Given the description of an element on the screen output the (x, y) to click on. 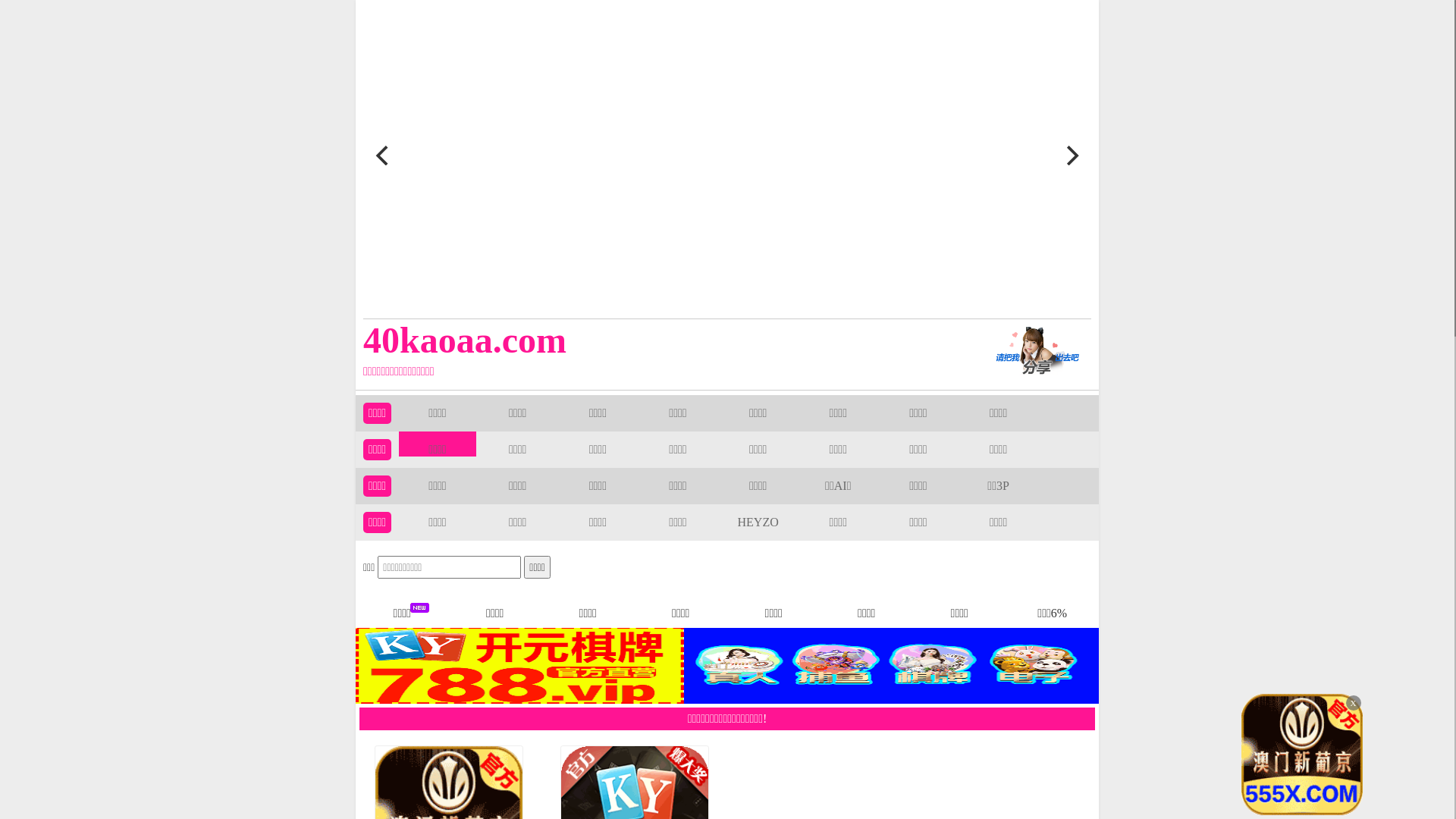
40kaoaa.com Element type: text (654, 339)
HEYZO Element type: text (757, 521)
